Given the description of an element on the screen output the (x, y) to click on. 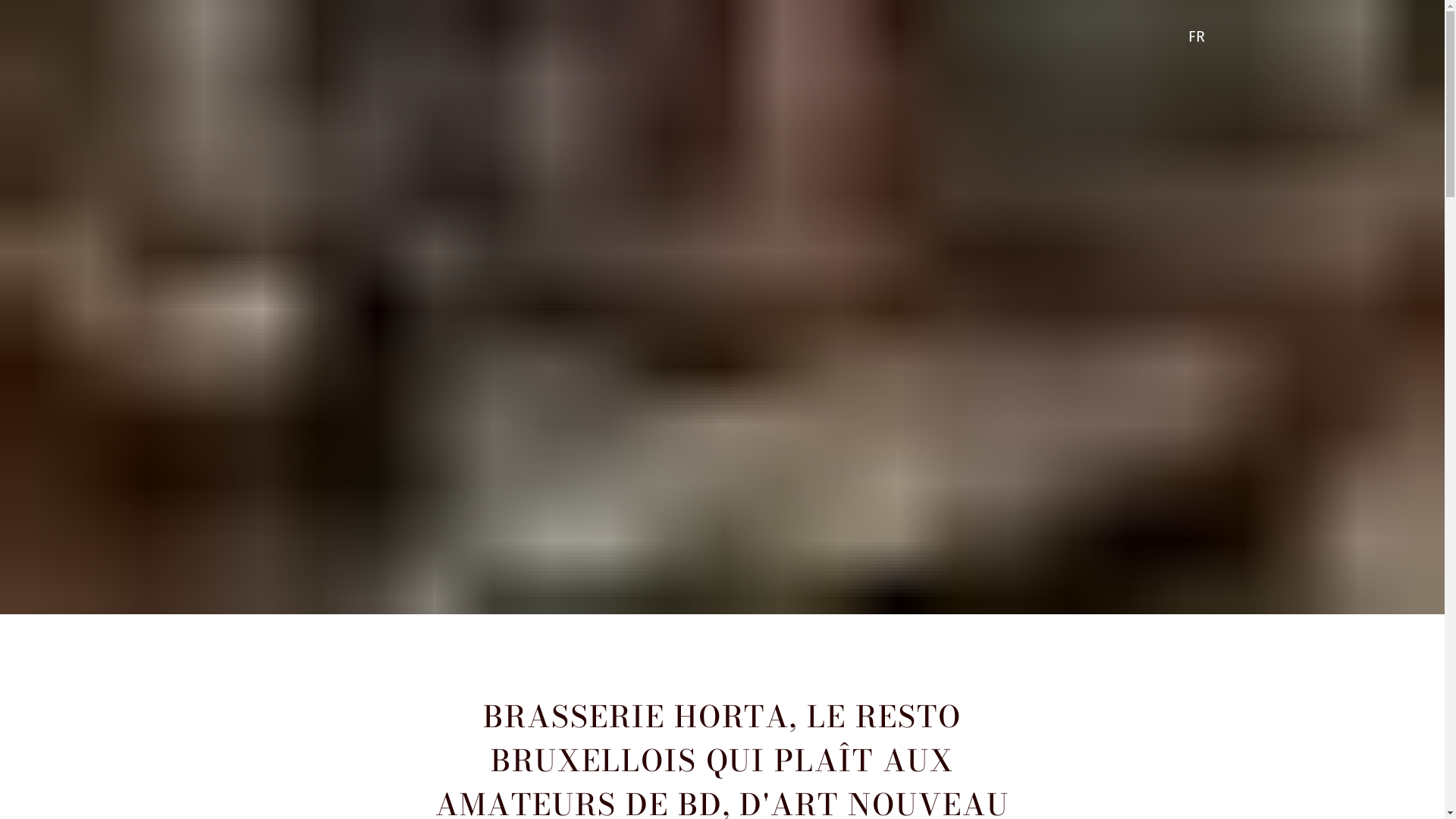
Photo de Brasserie Horta Element type: hover (722, 307)
FR Element type: text (1199, 37)
